Given the description of an element on the screen output the (x, y) to click on. 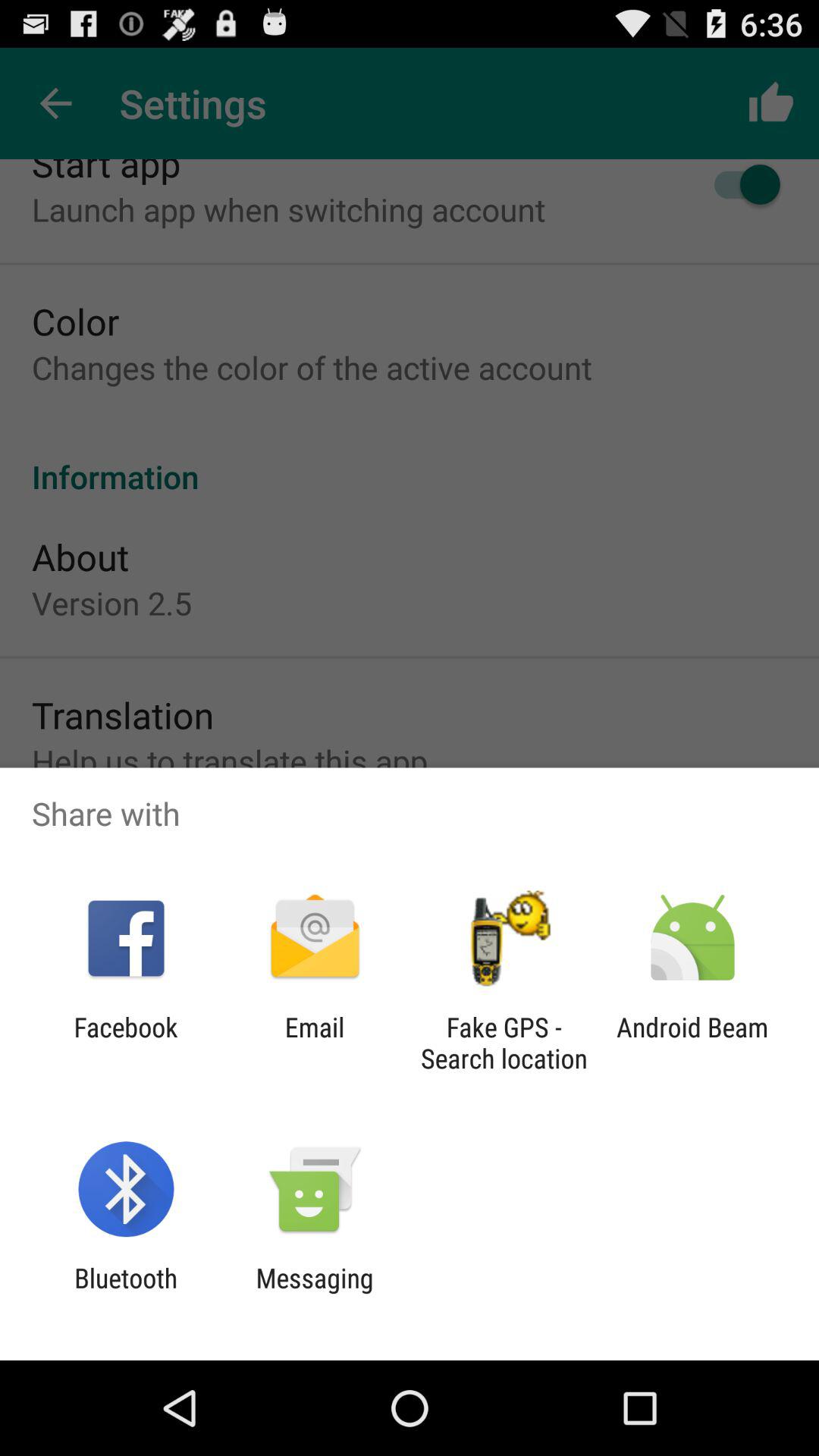
scroll until android beam (692, 1042)
